Given the description of an element on the screen output the (x, y) to click on. 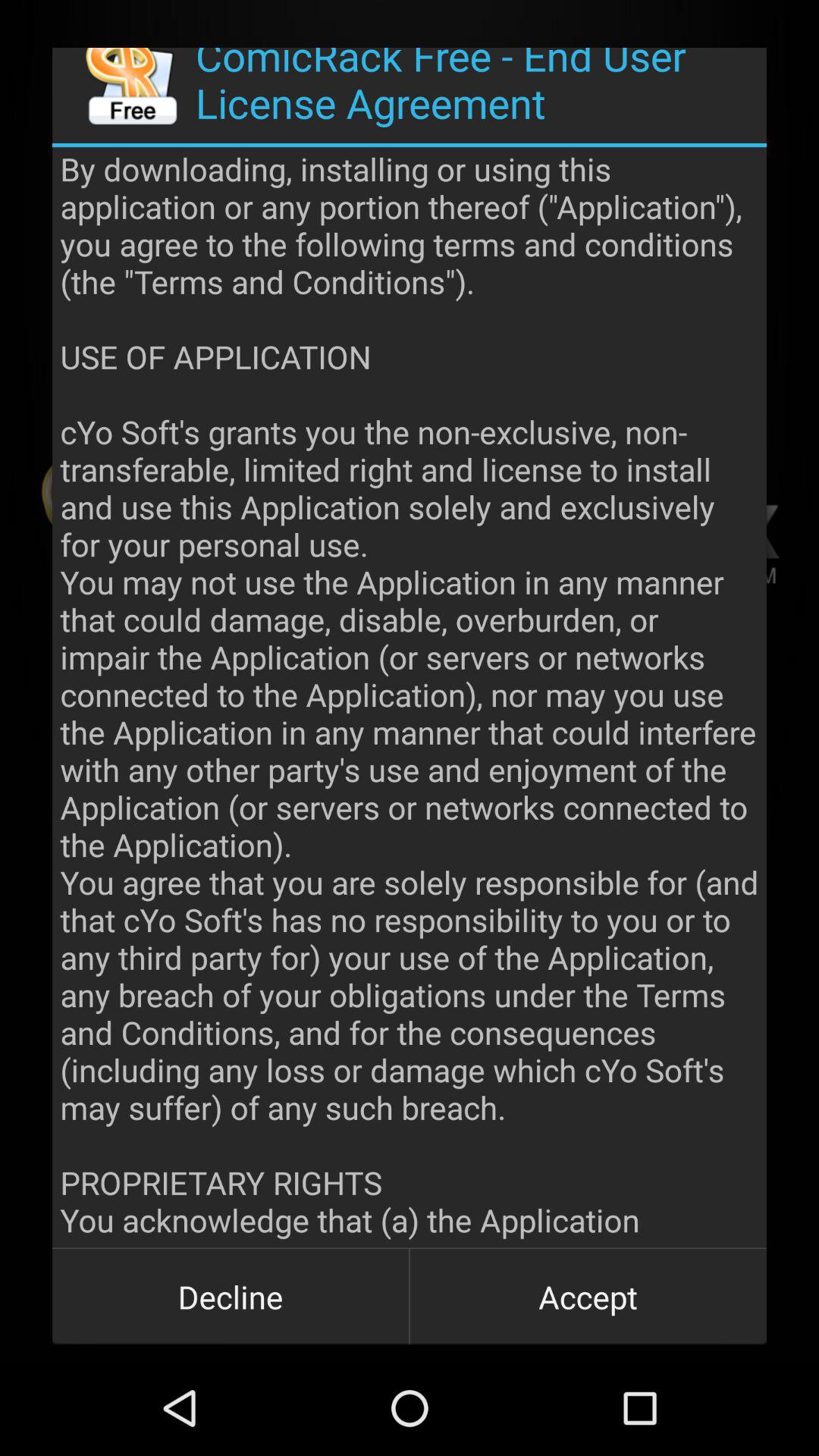
launch item to the left of accept item (230, 1296)
